Given the description of an element on the screen output the (x, y) to click on. 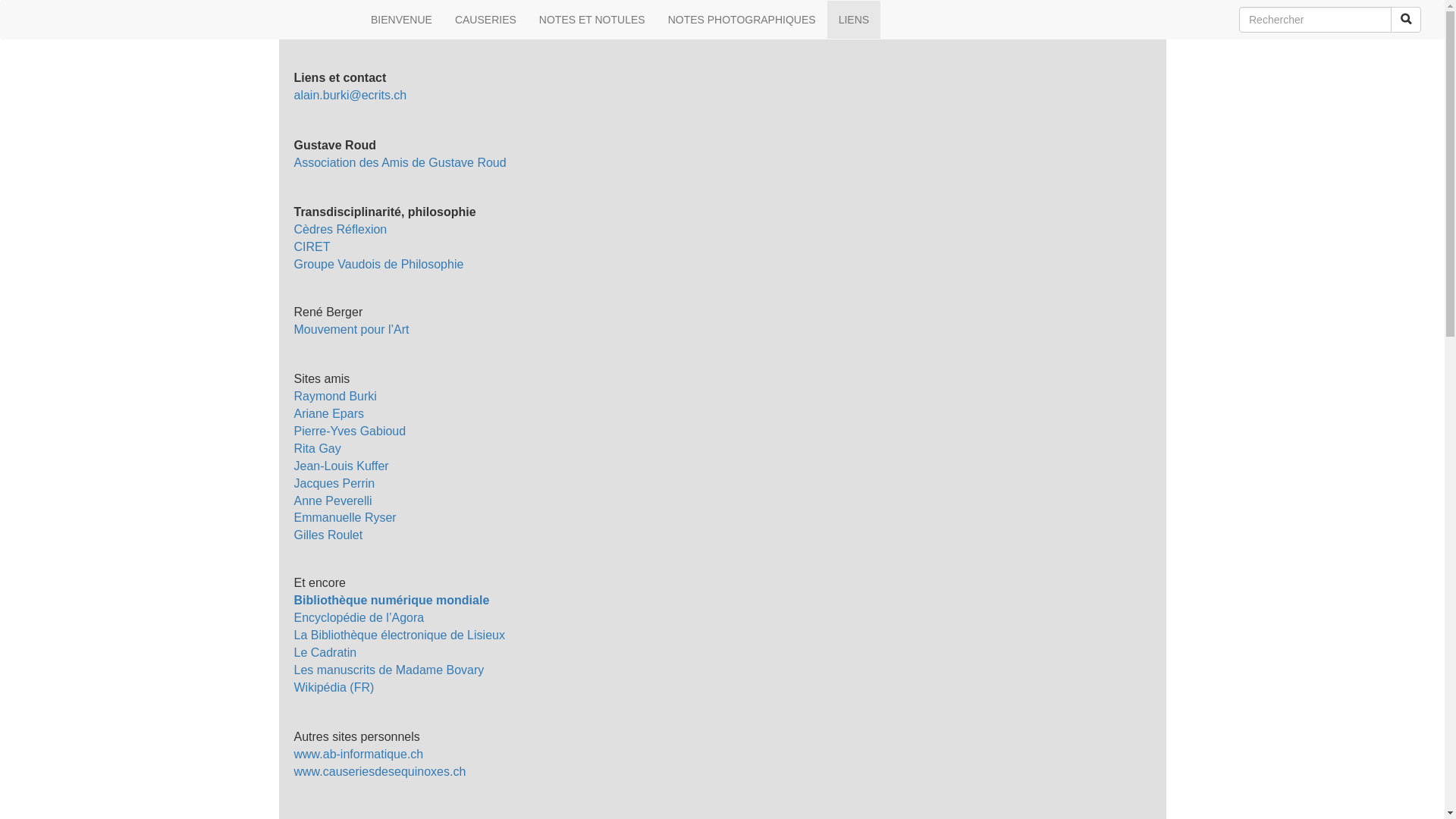
Association des Amis de Gustave Roud Element type: text (400, 162)
Pierre-Yves Gabioud Element type: text (350, 430)
Jean-Louis Kuffer Element type: text (341, 465)
CIRET Element type: text (312, 246)
BIENVENUE Element type: text (401, 19)
Gilles Roulet Element type: text (328, 534)
Anne Peverelli Element type: text (333, 500)
Raymond Burki Element type: text (335, 395)
Les manuscrits de Madame Bovary Element type: text (389, 669)
Ariane Epars Element type: text (329, 413)
www.ab-informatique.ch Element type: text (358, 753)
Jacques Perrin Element type: text (334, 482)
NOTES ET NOTULES Element type: text (591, 19)
Rita Gay Element type: text (317, 448)
alain.burki@ecrits.ch Element type: text (350, 94)
Emmanuelle Ryser Element type: text (345, 517)
NOTES PHOTOGRAPHIQUES Element type: text (741, 19)
CAUSERIES Element type: text (485, 19)
Le Cadratin Element type: text (325, 652)
LIENS Element type: text (853, 19)
Groupe Vaudois de Philosophie Element type: text (379, 263)
www.causeriesdesequinoxes.ch Element type: text (380, 771)
